Given the description of an element on the screen output the (x, y) to click on. 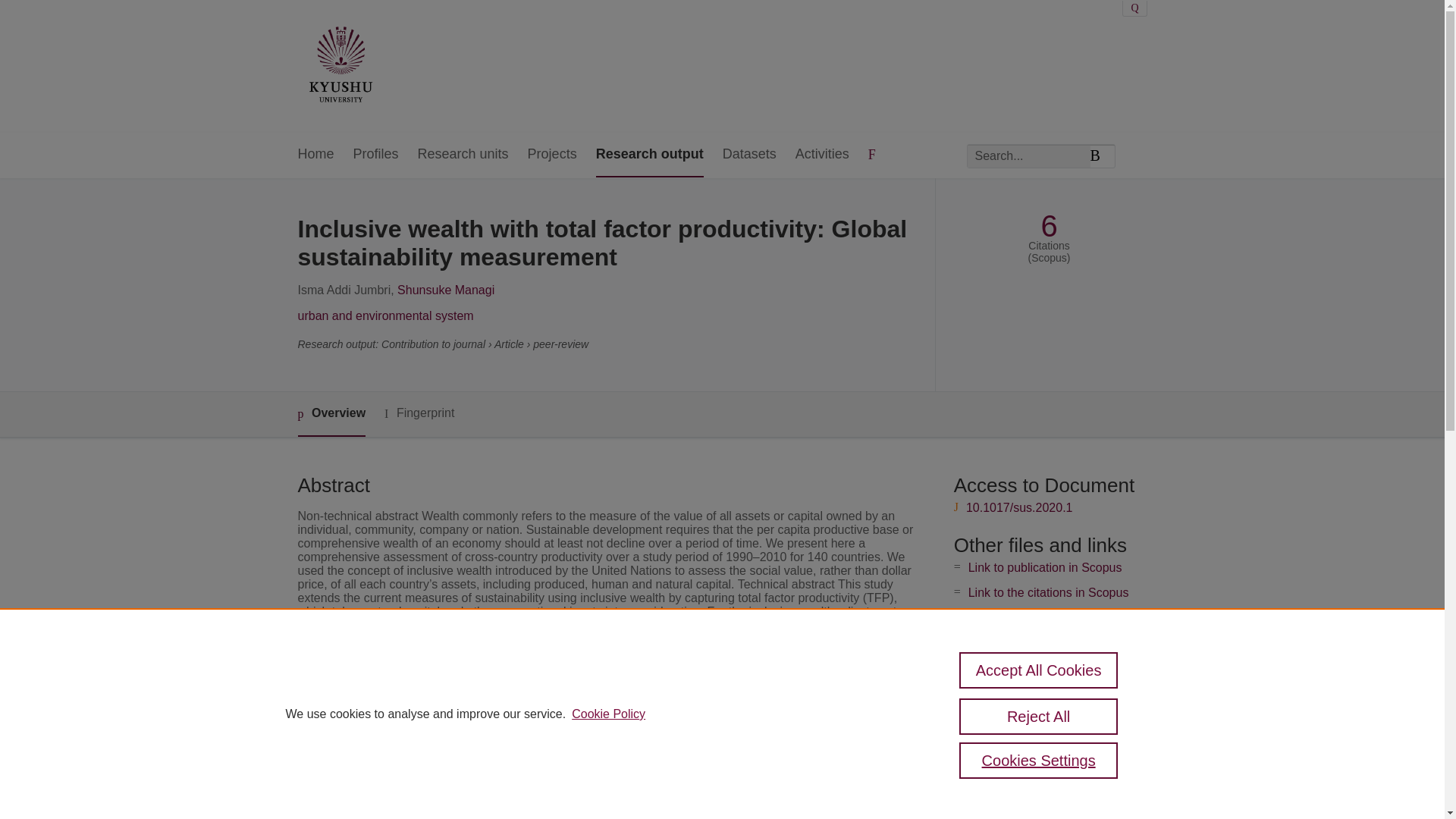
Profiles (375, 154)
Activities (821, 154)
Datasets (749, 154)
Shunsuke Managi (446, 289)
Research output (649, 154)
Global Sustainability (565, 793)
Research units (462, 154)
Fingerprint (419, 413)
Link to publication in Scopus (1045, 567)
